Given the description of an element on the screen output the (x, y) to click on. 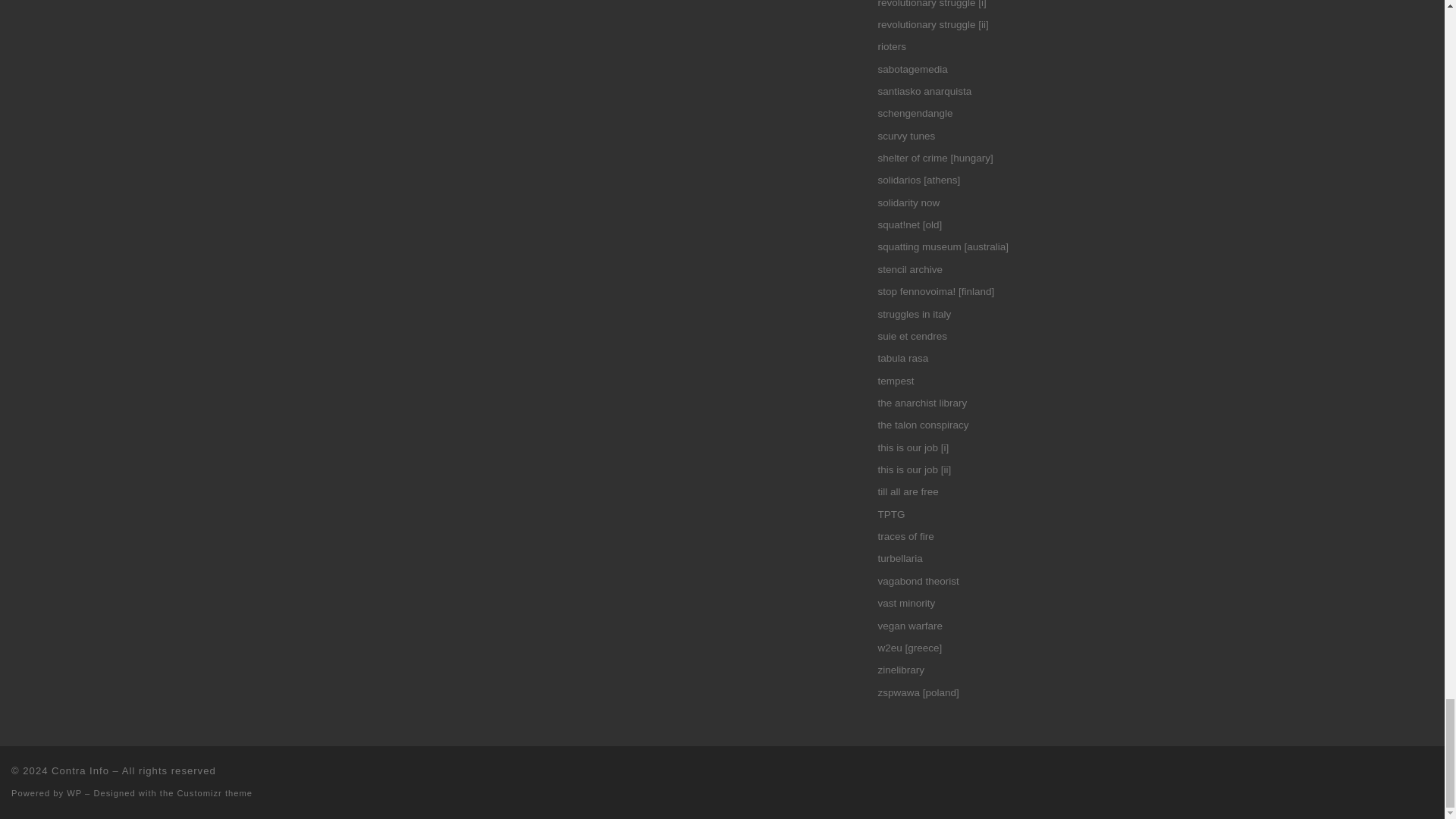
Customizr theme (215, 792)
Powered by WordPress (73, 792)
Contra Info (79, 770)
